Given the description of an element on the screen output the (x, y) to click on. 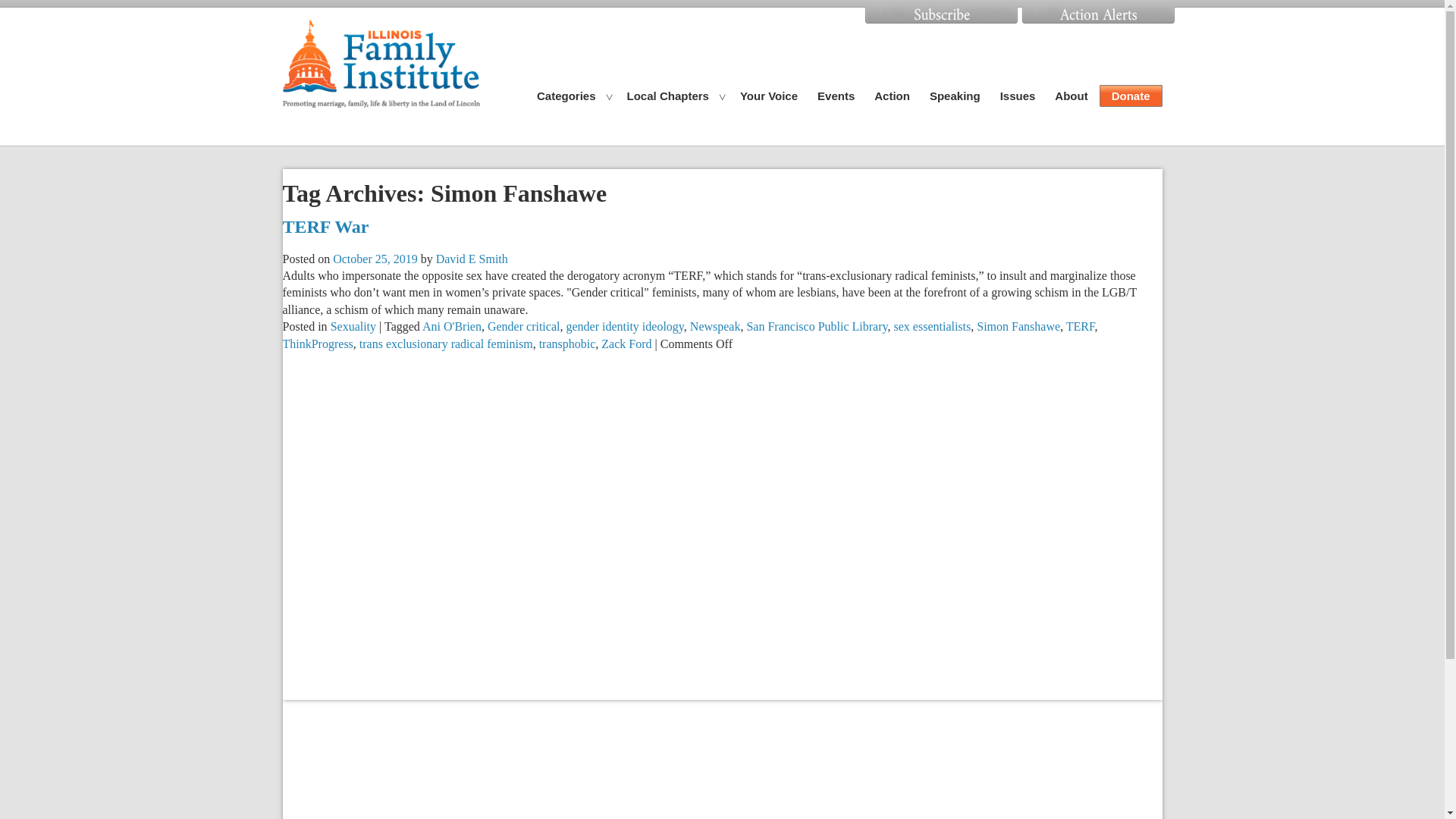
View all posts by David E Smith (471, 258)
David E Smith (471, 258)
About (1071, 96)
Sexuality (352, 326)
Local Chapters (667, 96)
Donate (1130, 96)
TERF War (325, 226)
Gender critical (523, 326)
4:00 AM (375, 258)
Speaking (954, 96)
